Given the description of an element on the screen output the (x, y) to click on. 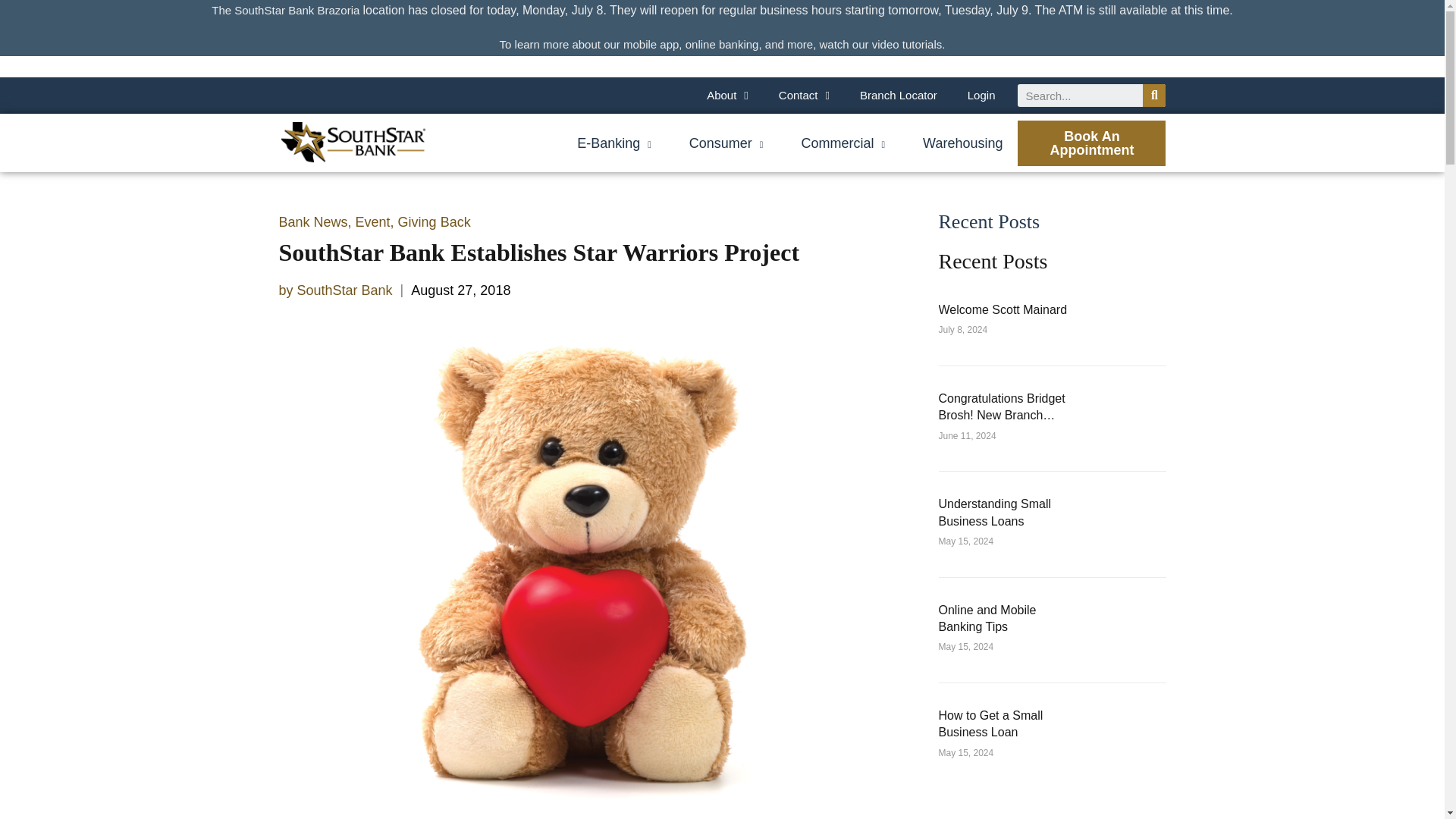
2018-08-27T15:00:00-06:00 (460, 290)
About (726, 95)
Login (981, 95)
Search (1079, 95)
Branch Locator (898, 95)
E-Banking (613, 143)
Search (1154, 95)
video tutorials (907, 43)
Consumer (725, 143)
Contact (803, 95)
